Given the description of an element on the screen output the (x, y) to click on. 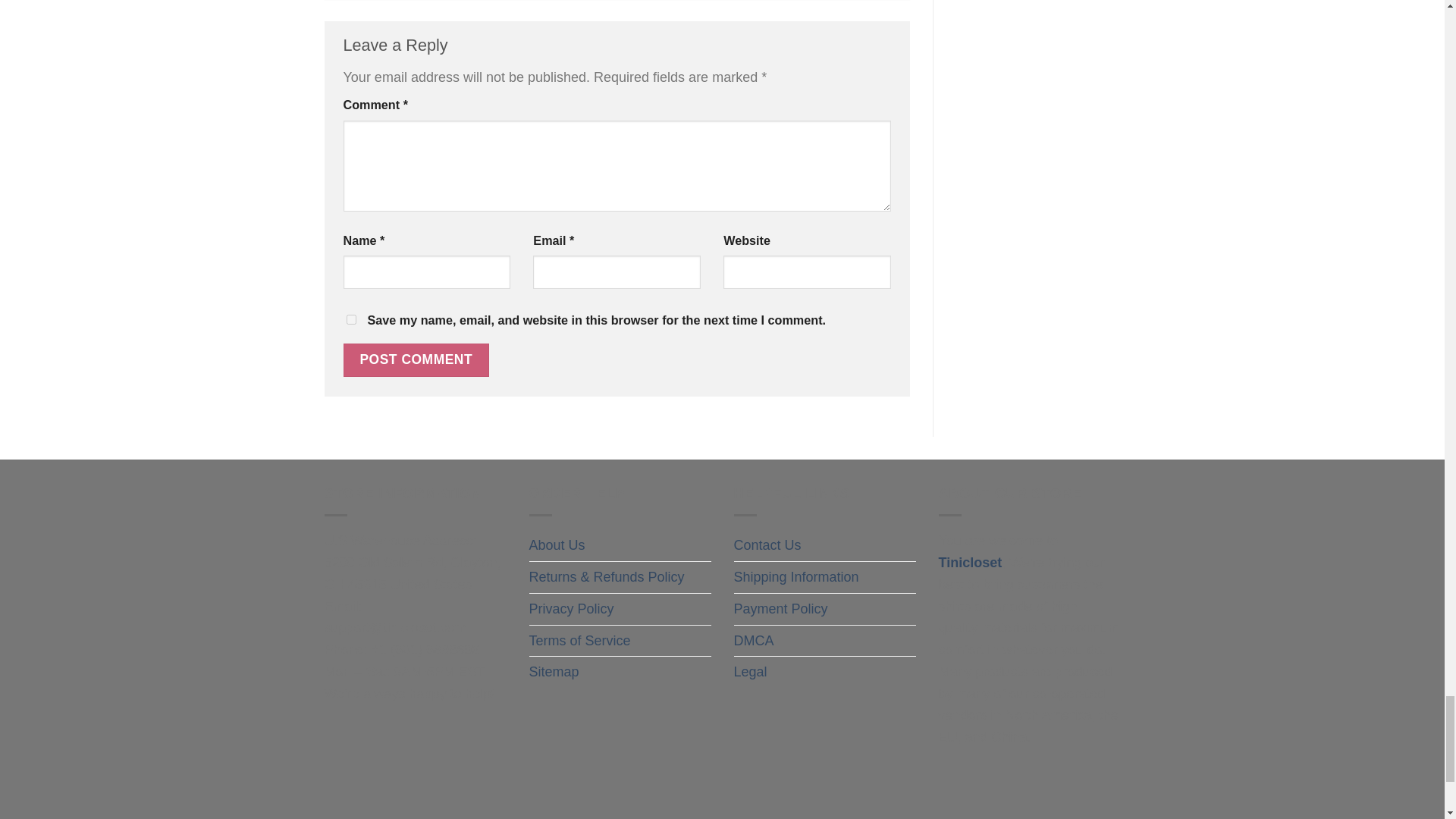
Post Comment (415, 359)
yes (350, 319)
